Given the description of an element on the screen output the (x, y) to click on. 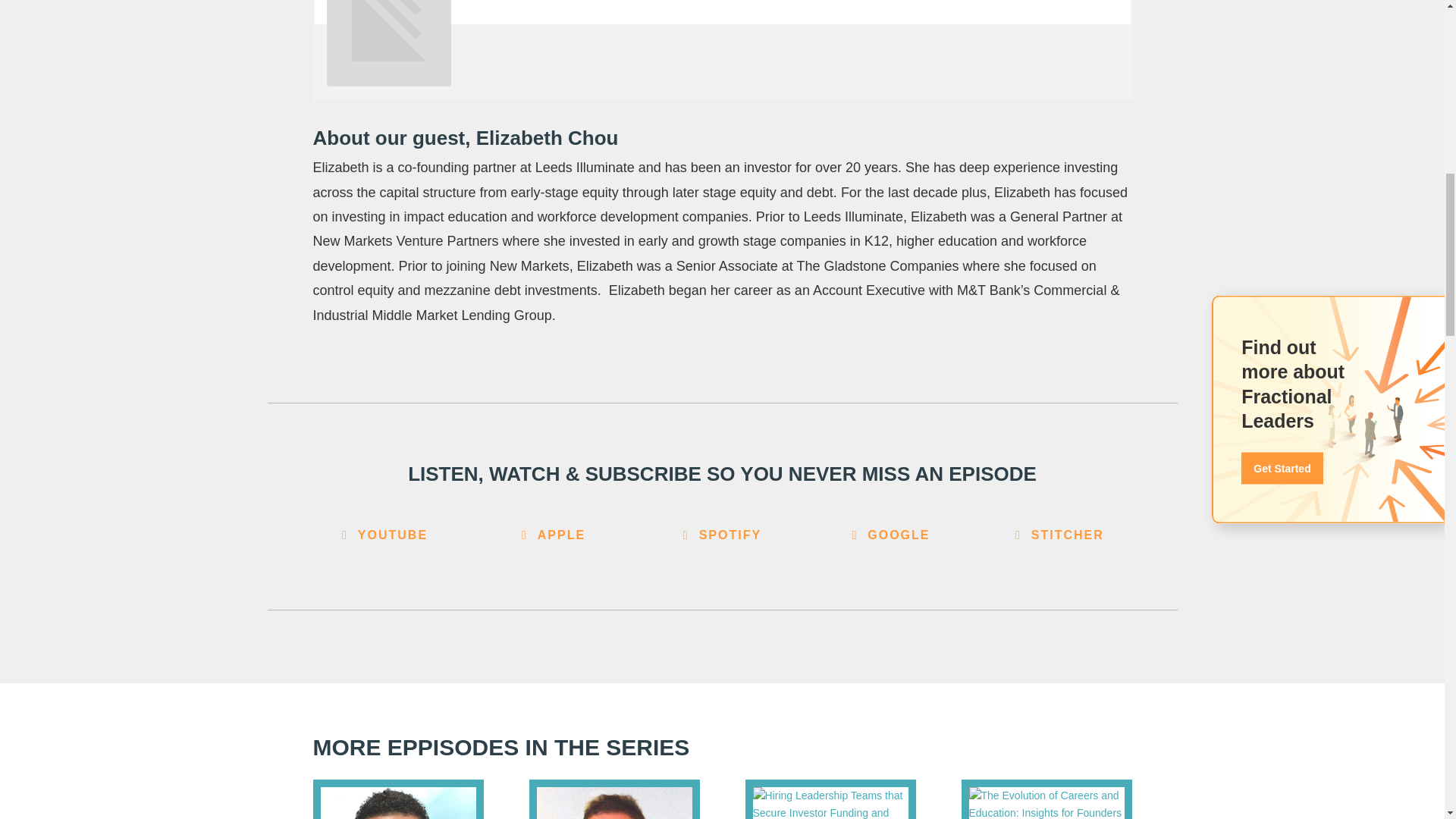
STITCHER (1059, 535)
GOOGLE (890, 535)
APPLE (553, 535)
SPOTIFY (722, 535)
YOUTUBE (384, 535)
